Given the description of an element on the screen output the (x, y) to click on. 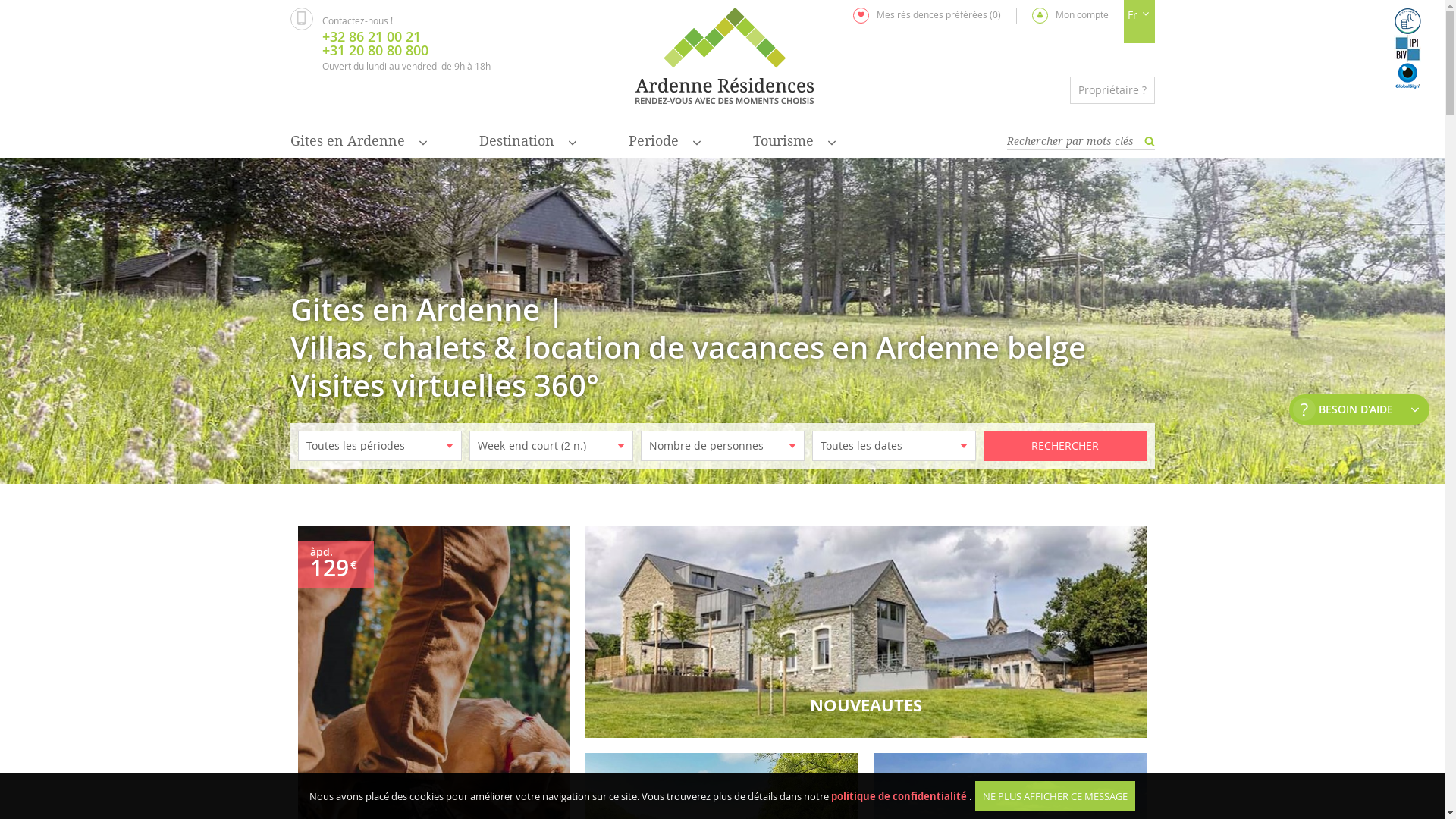
GlobalSign Element type: hover (1407, 75)
+32 86 21 00 21 Element type: text (405, 36)
BeCommerce Element type: hover (1407, 20)
RECHERCHER Element type: text (1064, 445)
Destination Element type: text (529, 142)
Fr Element type: text (1138, 14)
Institut Professionnel des Agents Immobiliers Element type: hover (1407, 48)
Ne plus afficher ce message Element type: text (1055, 796)
Periode Element type: text (664, 142)
NOUVEAUTES Element type: text (865, 631)
+31 20 80 80 800 Element type: text (405, 49)
e Element type: text (1148, 140)
Gites en Ardenne Element type: text (359, 142)
Tourisme Element type: text (794, 142)
